Given the description of an element on the screen output the (x, y) to click on. 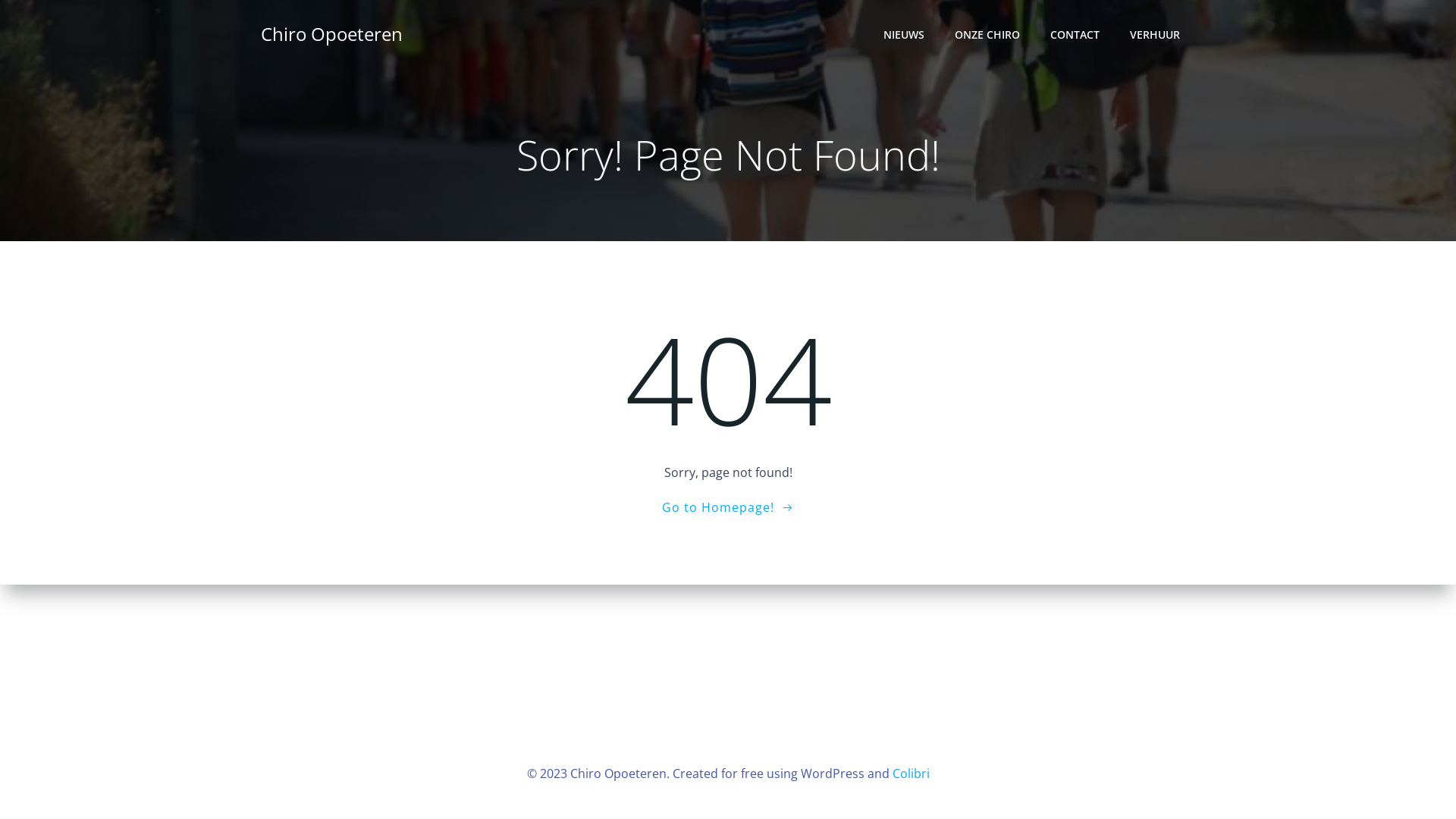
NIEUWS Element type: text (903, 33)
Go to Homepage! Element type: text (727, 506)
Colibri Element type: text (909, 773)
VERHUUR Element type: text (1154, 33)
Chiro Opoeteren Element type: text (331, 33)
ONZE CHIRO Element type: text (986, 33)
CONTACT Element type: text (1074, 33)
